Given the description of an element on the screen output the (x, y) to click on. 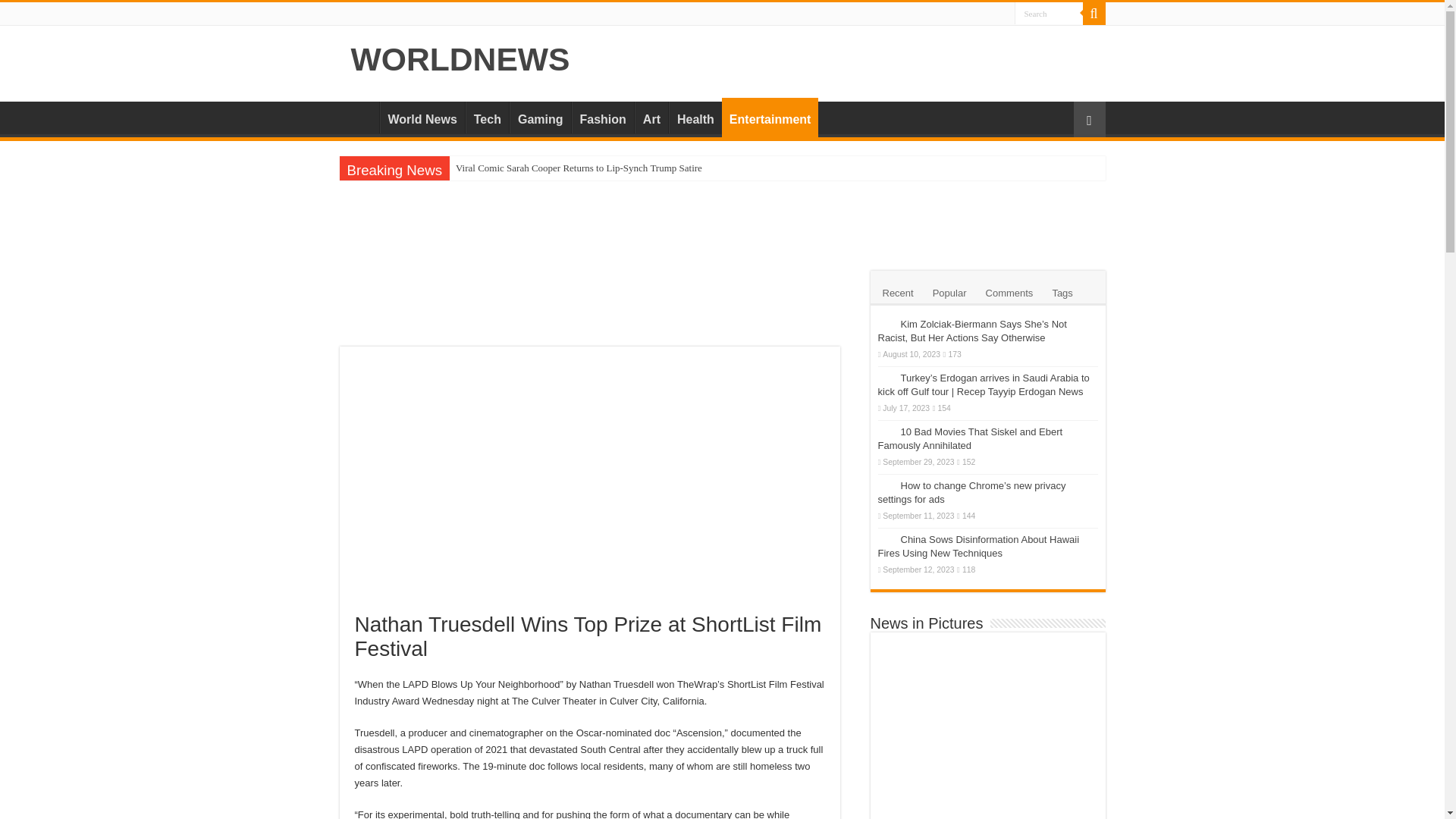
Comments (1009, 291)
Popular (950, 291)
Entertainment (770, 117)
Search (1048, 13)
Tech (486, 117)
Home (358, 117)
WORLDNEWS (459, 58)
Random Article (1089, 119)
Viral Comic Sarah Cooper Returns to Lip-Synch Trump Satire (748, 168)
Tags (1061, 291)
